Given the description of an element on the screen output the (x, y) to click on. 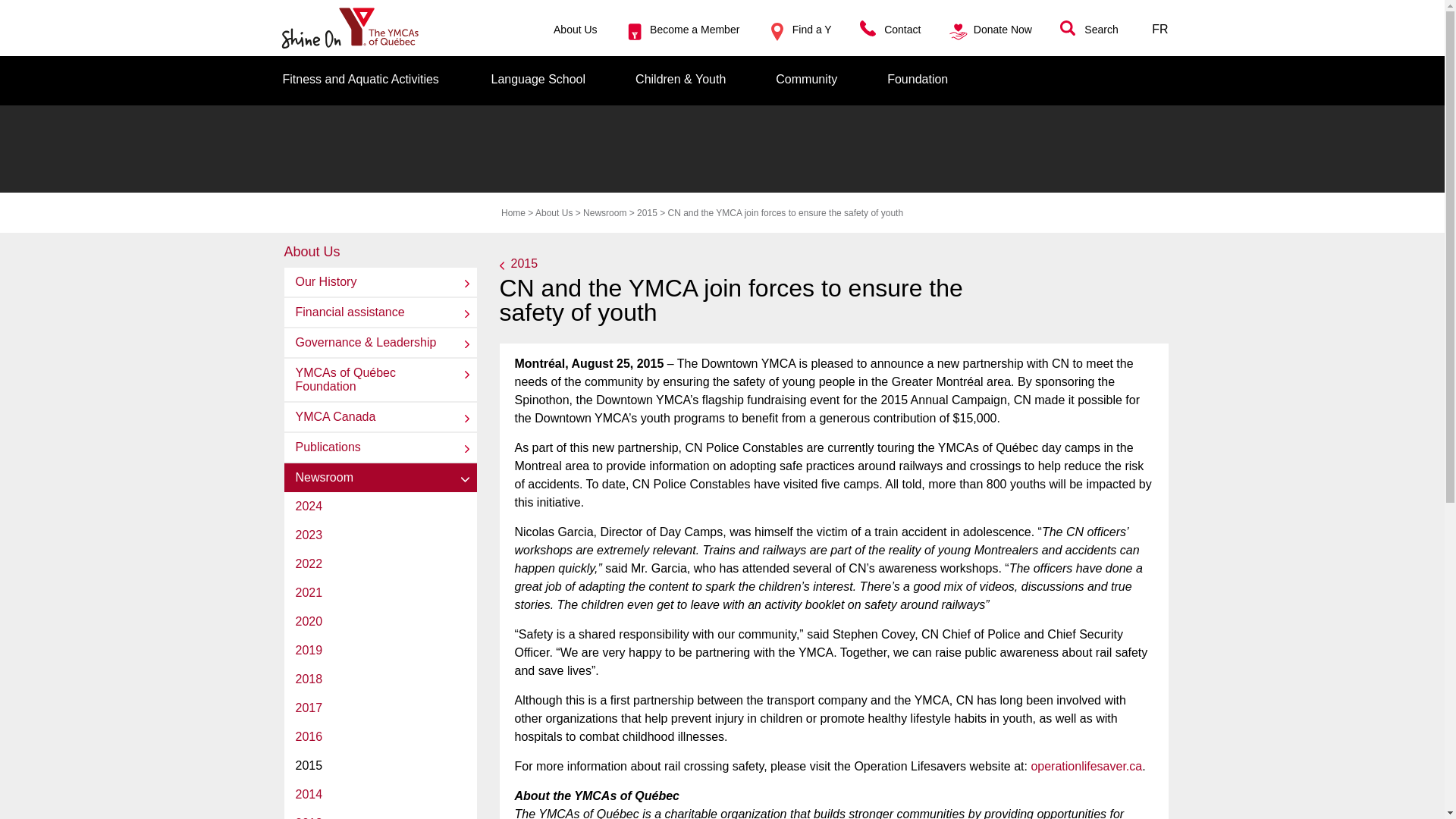
Contact (901, 29)
Become a Member (694, 29)
About Us (311, 251)
Financial assistance (379, 312)
Foundation (916, 79)
About Us (553, 213)
Language School (538, 79)
About Us (574, 29)
FR (1159, 29)
Our History (379, 281)
Donate Now (1003, 29)
Home (512, 213)
2015 (647, 213)
Community (806, 79)
Find a Y (811, 29)
